Given the description of an element on the screen output the (x, y) to click on. 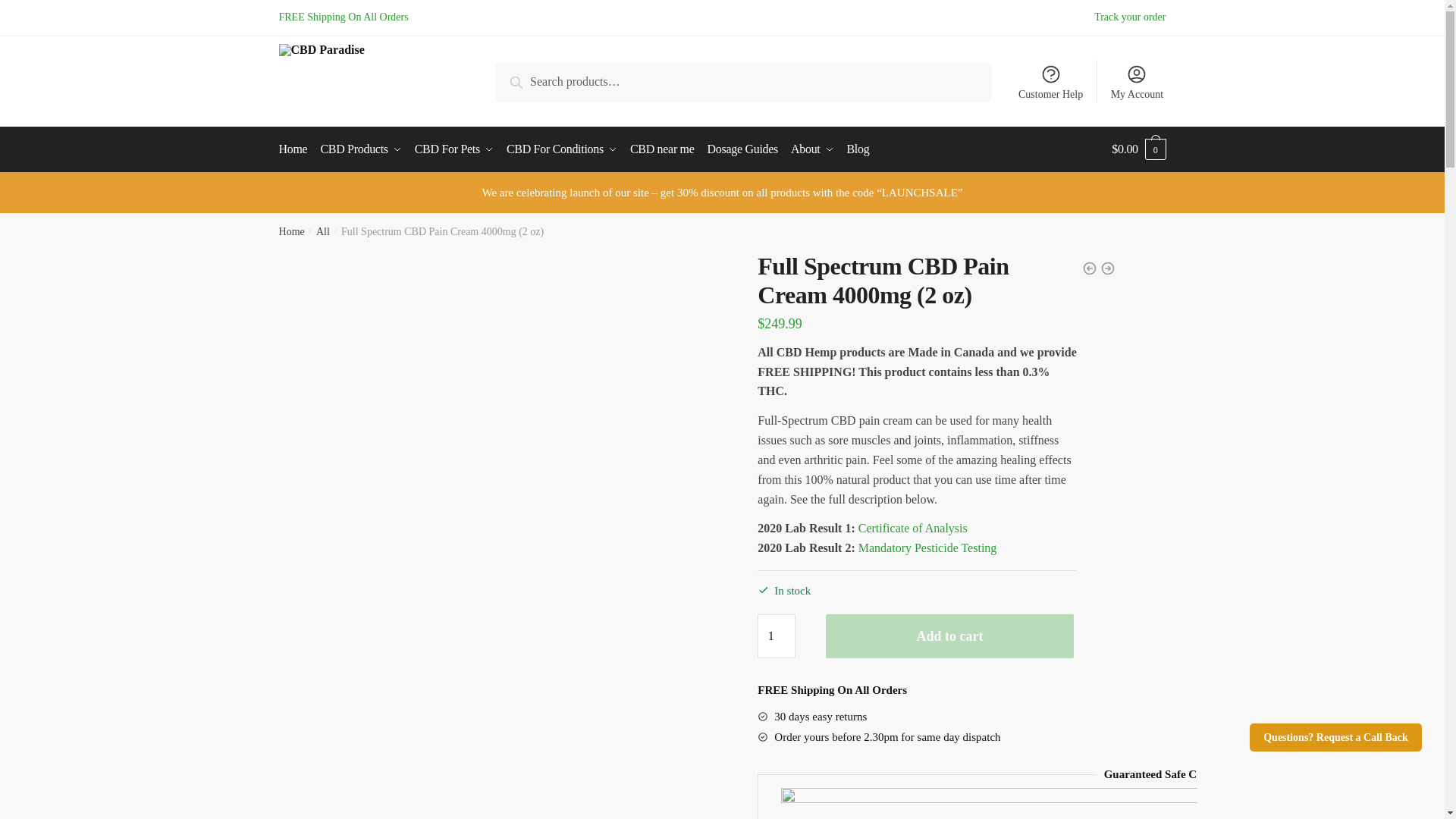
CBD For Conditions (561, 148)
View your shopping cart (1139, 148)
Track your order (1130, 17)
CBD For Pets (454, 148)
My Account (1136, 81)
CBD Products (360, 148)
Search (529, 80)
Customer Help (1051, 81)
